Given the description of an element on the screen output the (x, y) to click on. 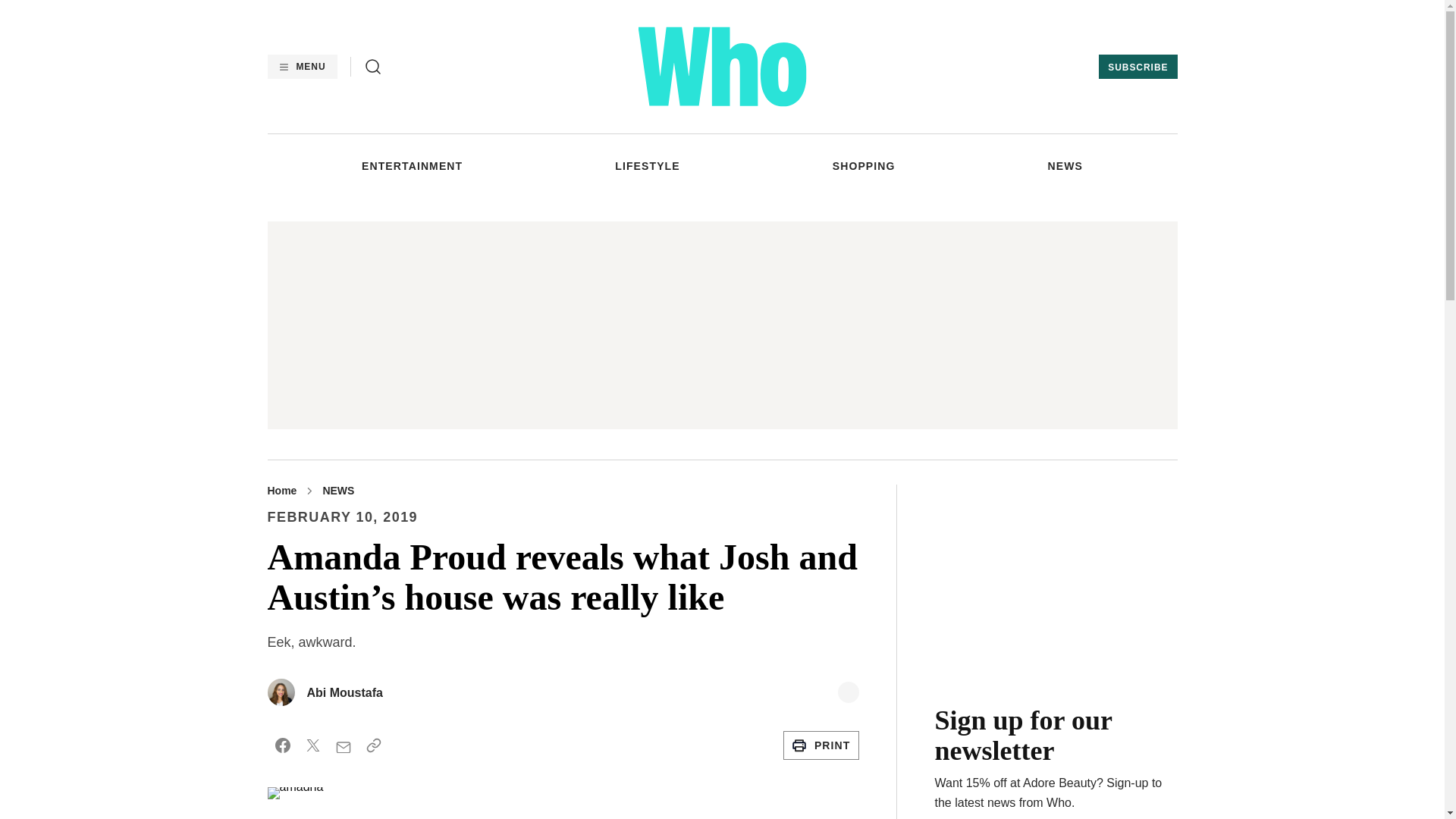
MENU (301, 66)
SUBSCRIBE (1137, 66)
NEWS (1065, 165)
SHOPPING (863, 165)
ENTERTAINMENT (412, 165)
LIFESTYLE (646, 165)
